Given the description of an element on the screen output the (x, y) to click on. 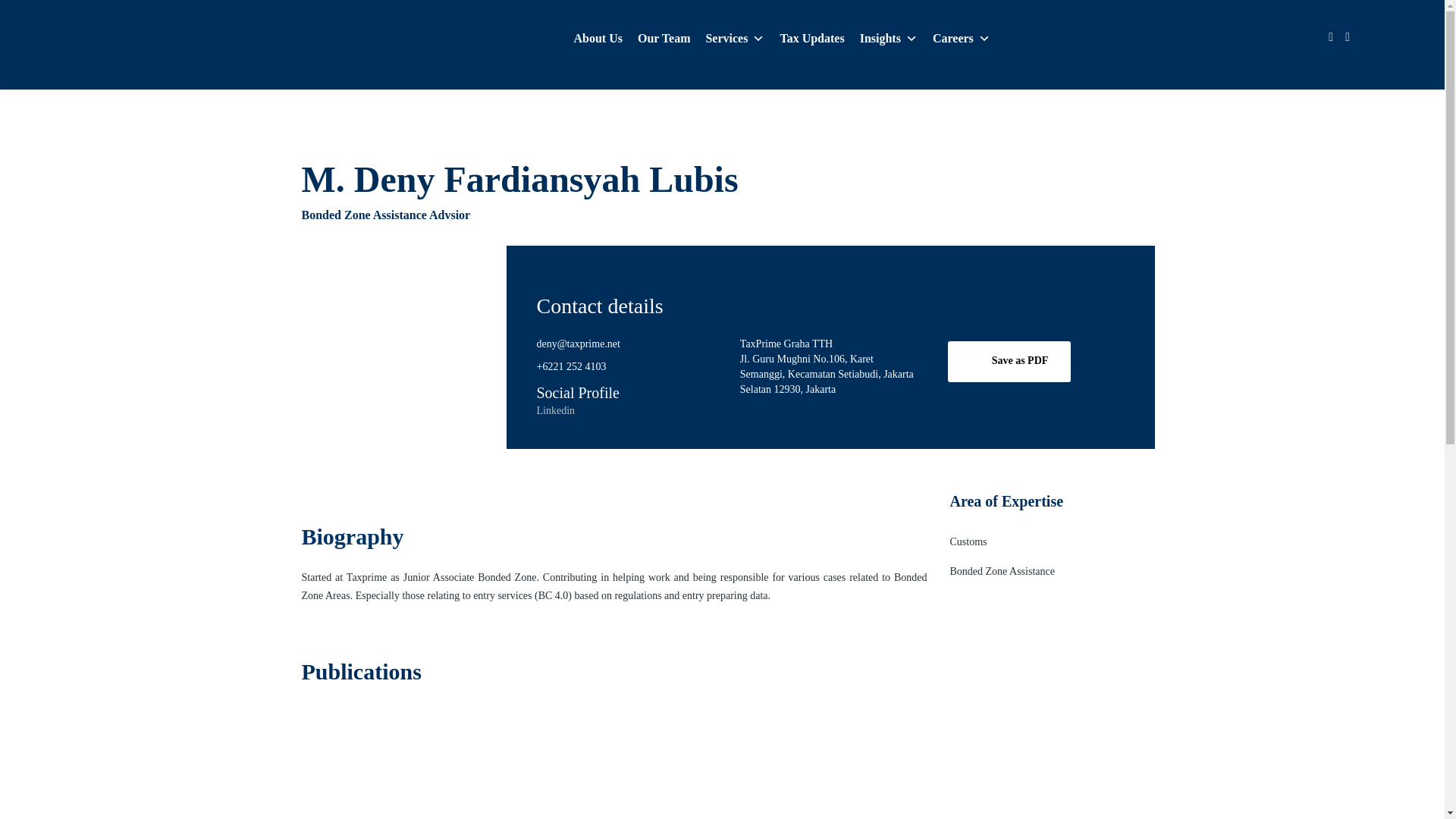
About Us (597, 38)
Tax Updates (811, 38)
Our Team (664, 38)
Careers (960, 38)
Insights (887, 38)
Services (734, 38)
